Given the description of an element on the screen output the (x, y) to click on. 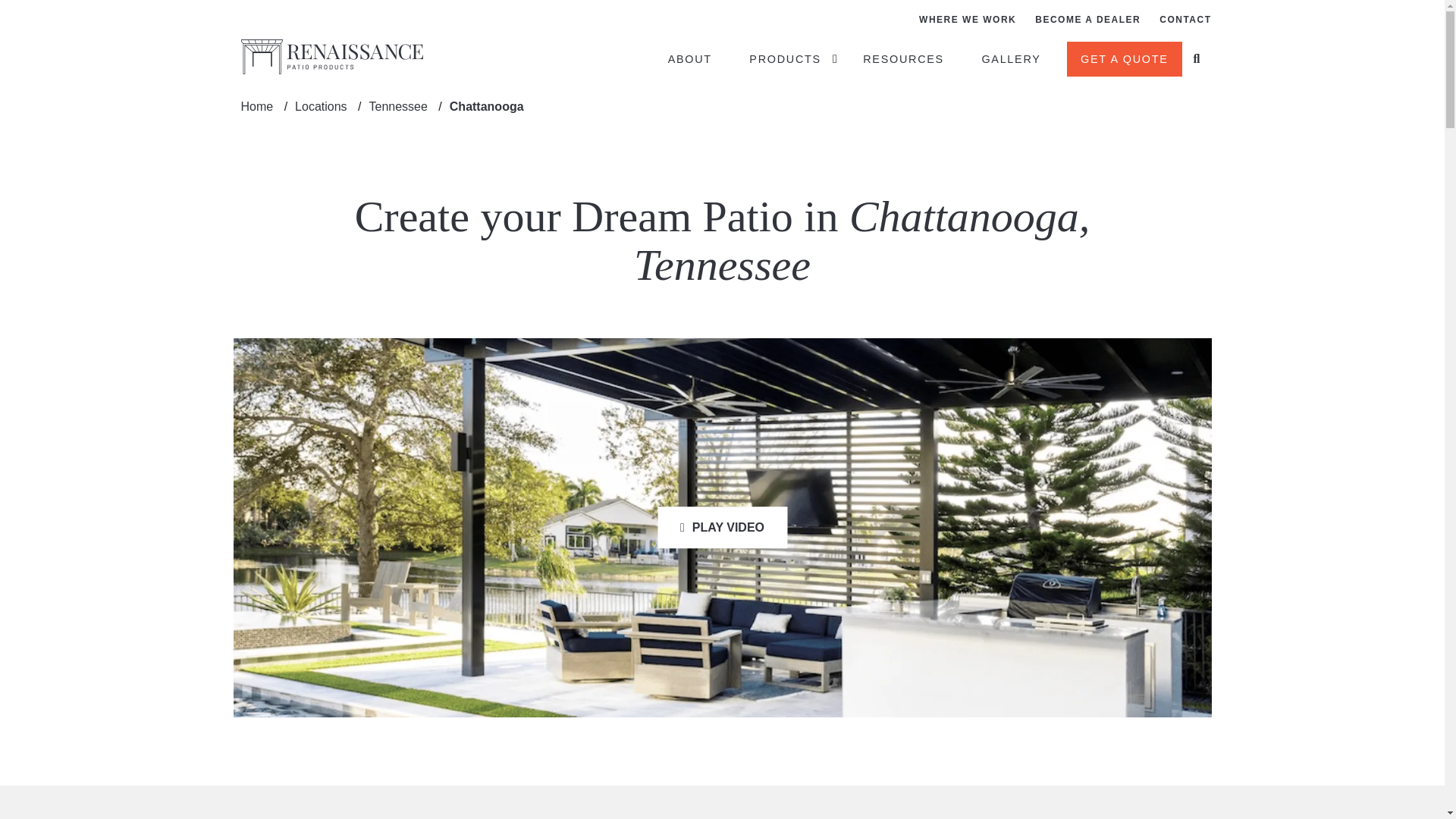
Tennessee (397, 106)
Locations (320, 106)
Home (256, 106)
GET A QUOTE (1124, 58)
PRODUCTS (791, 56)
WHERE WE WORK (967, 19)
BECOME A DEALER (1087, 19)
Chattanooga (486, 106)
GALLERY (1015, 56)
CONTACT (1184, 19)
RESOURCES (908, 56)
ABOUT (695, 56)
PLAY VIDEO (722, 527)
